Given the description of an element on the screen output the (x, y) to click on. 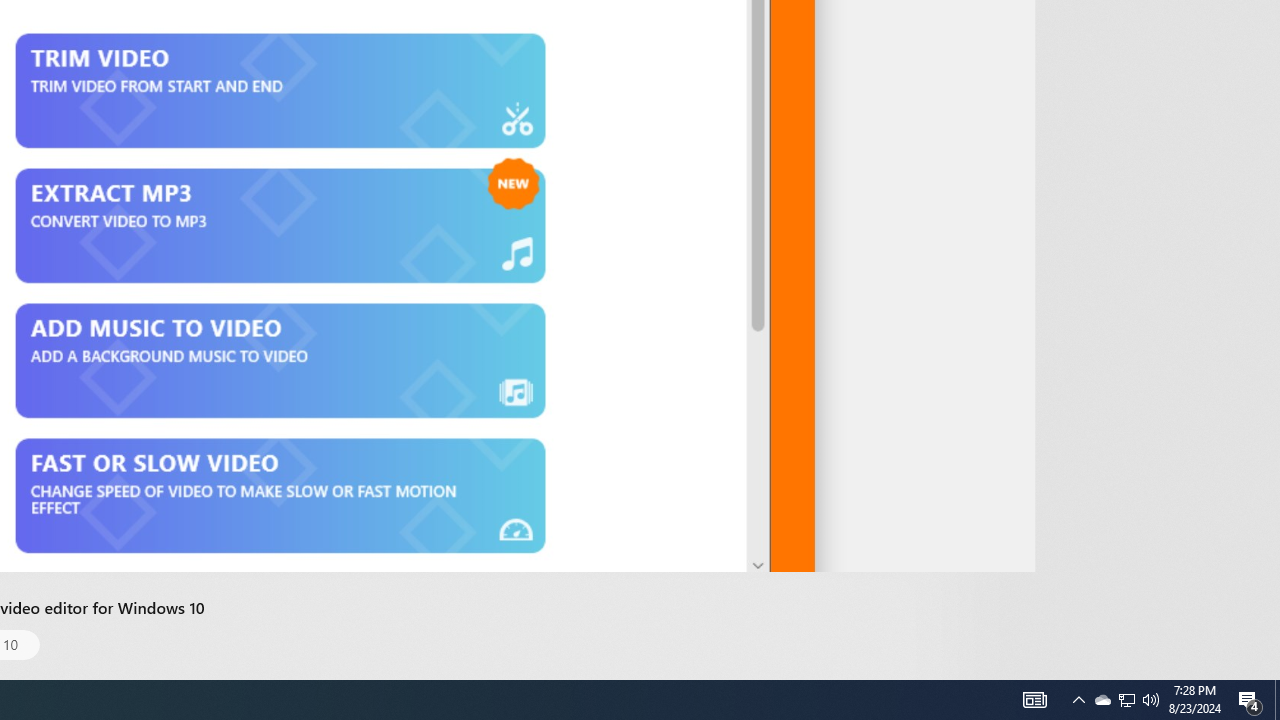
Show all ratings and reviews (924, 97)
